Given the description of an element on the screen output the (x, y) to click on. 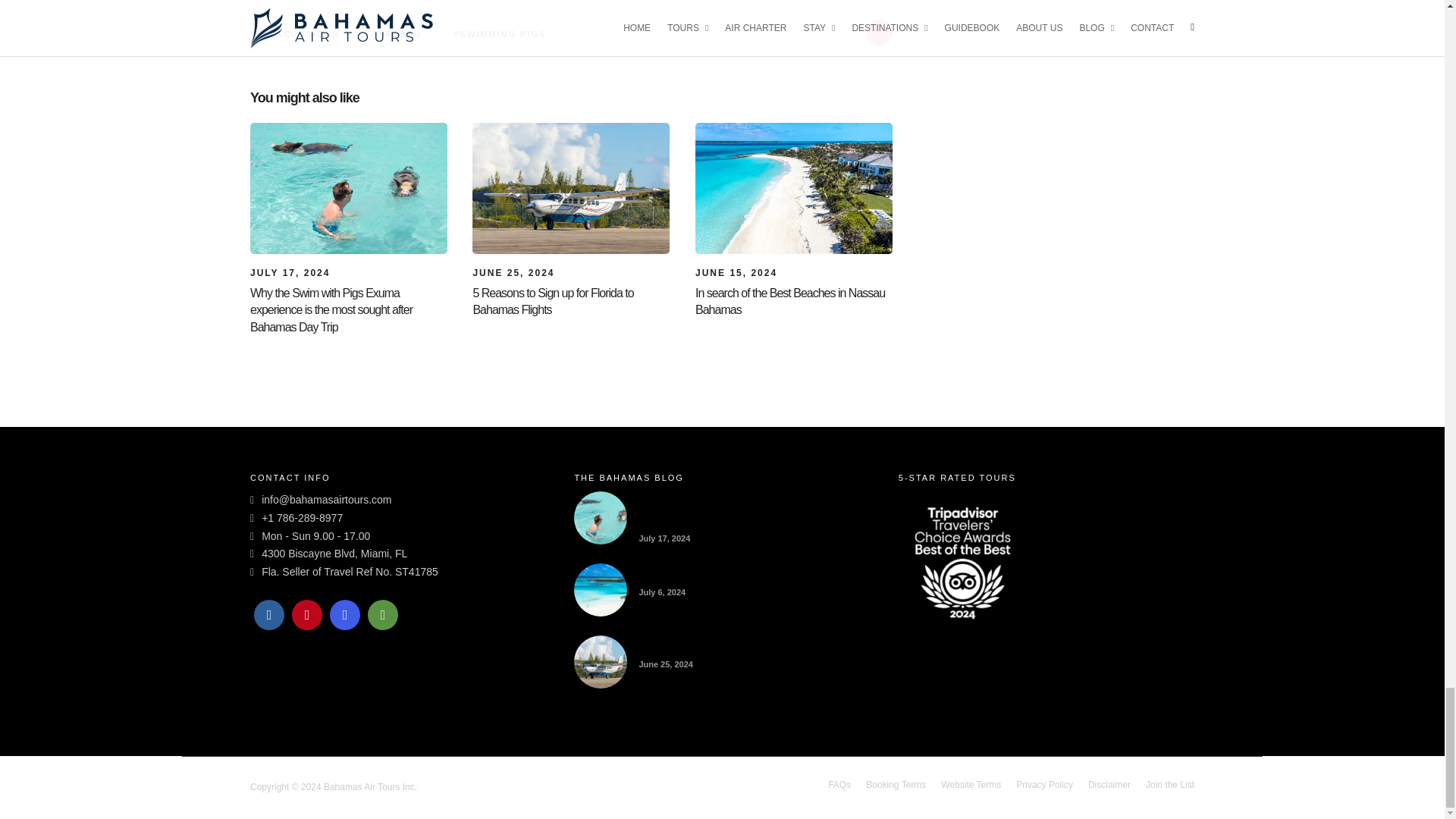
5 Reasons to Sign up for Florida to Bahamas Flights (512, 272)
